Given the description of an element on the screen output the (x, y) to click on. 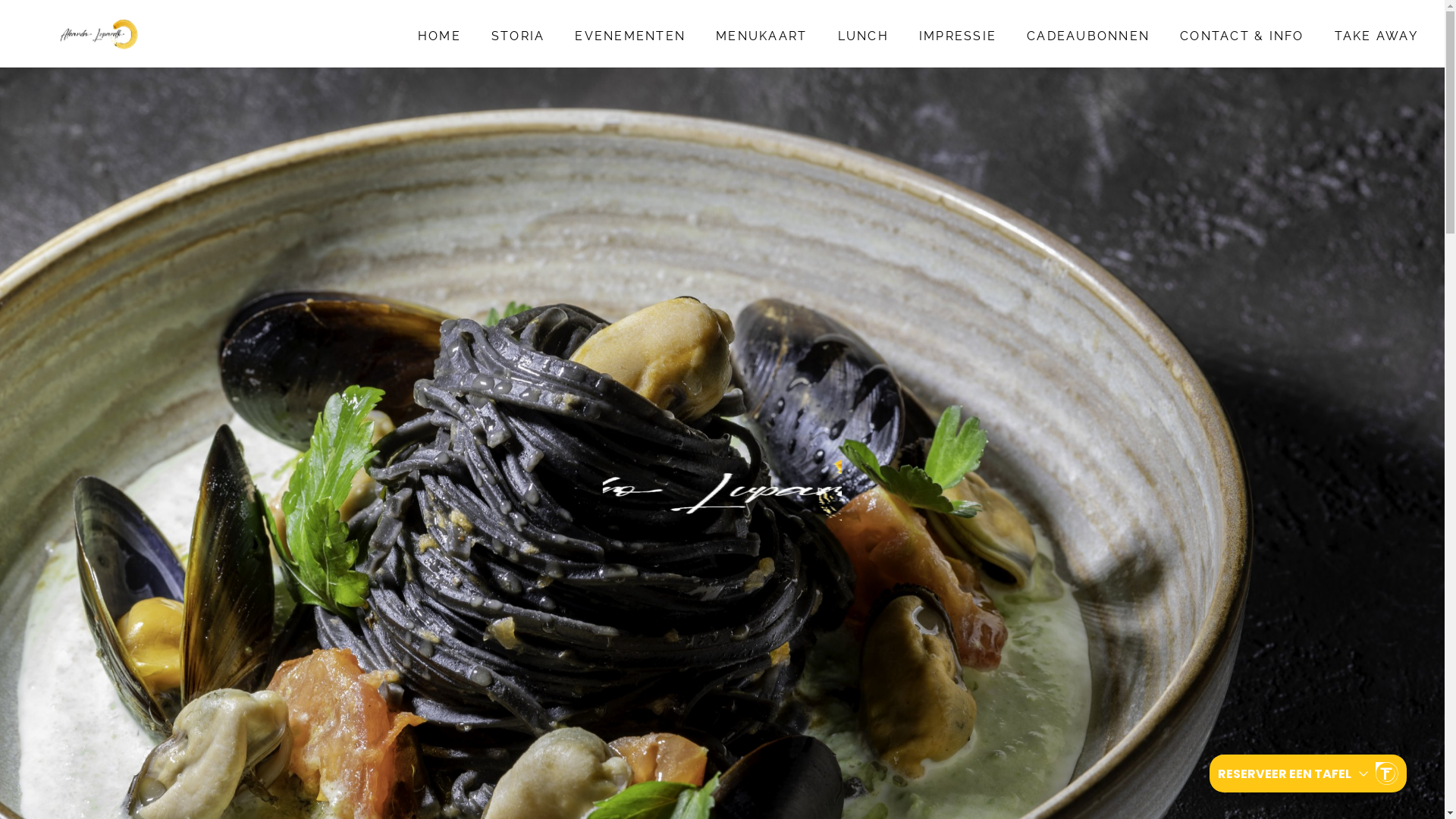
LUNCH Element type: text (862, 35)
CONTACT & INFO Element type: text (1241, 35)
TAKE AWAY Element type: text (1376, 35)
EVENEMENTEN Element type: text (629, 35)
STORIA Element type: text (518, 35)
HOME Element type: text (439, 35)
MENUKAART Element type: text (760, 35)
IMPRESSIE Element type: text (957, 35)
CADEAUBONNEN Element type: text (1087, 35)
